Given the description of an element on the screen output the (x, y) to click on. 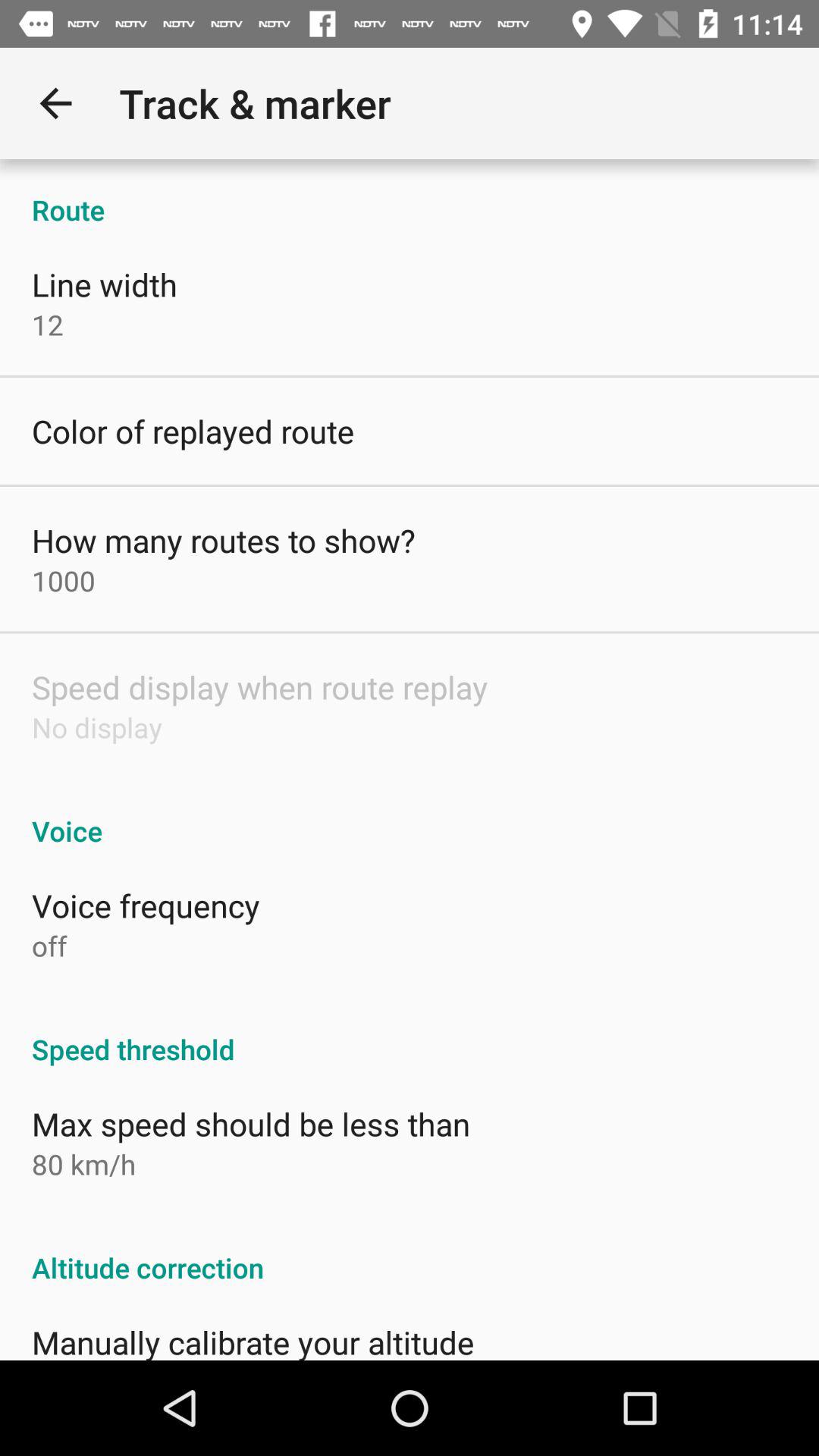
choose max speed should (250, 1123)
